Given the description of an element on the screen output the (x, y) to click on. 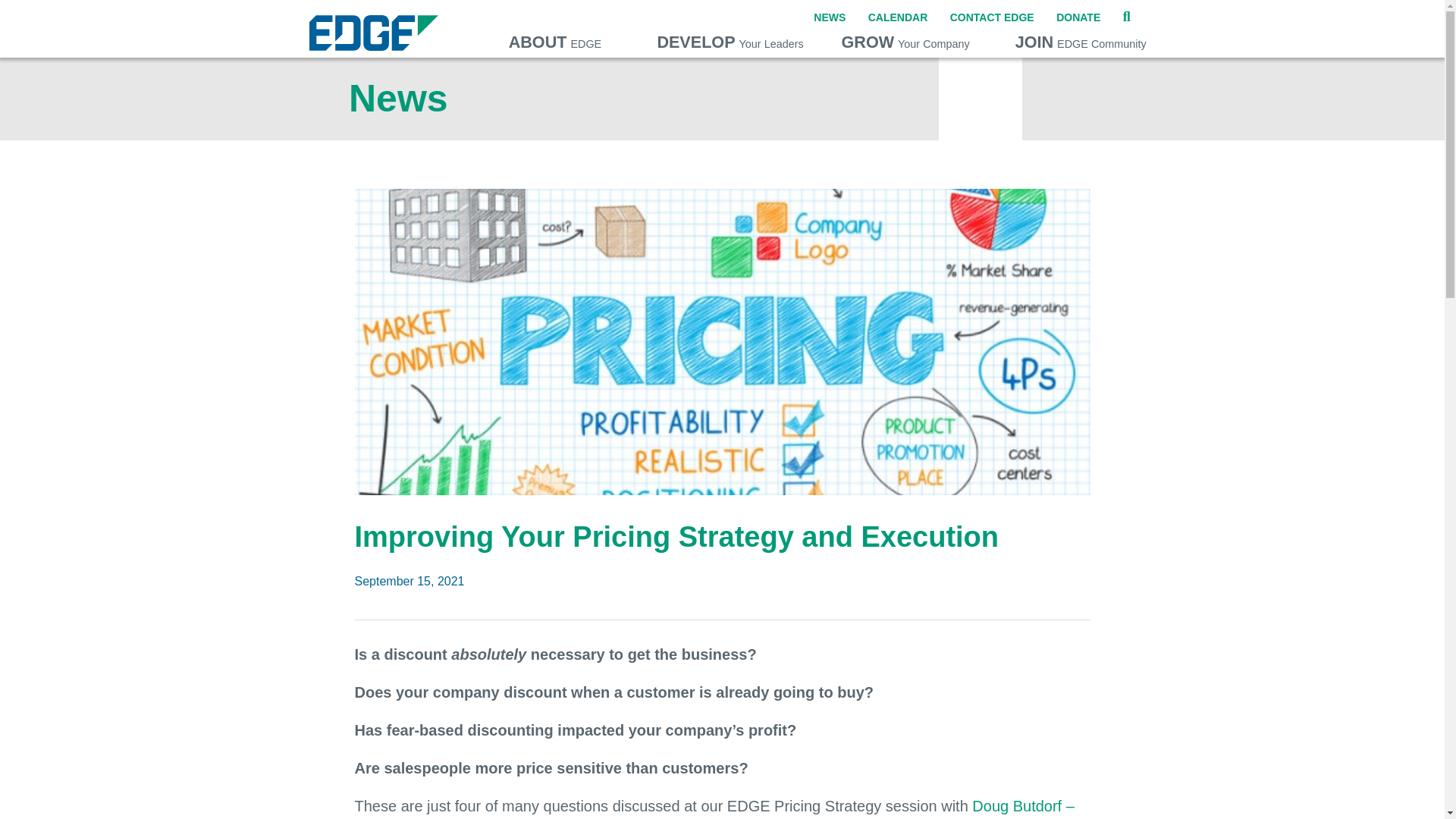
CALENDAR (897, 12)
CONTACT EDGE (991, 12)
NEWS (555, 37)
DONATE (829, 12)
